Given the description of an element on the screen output the (x, y) to click on. 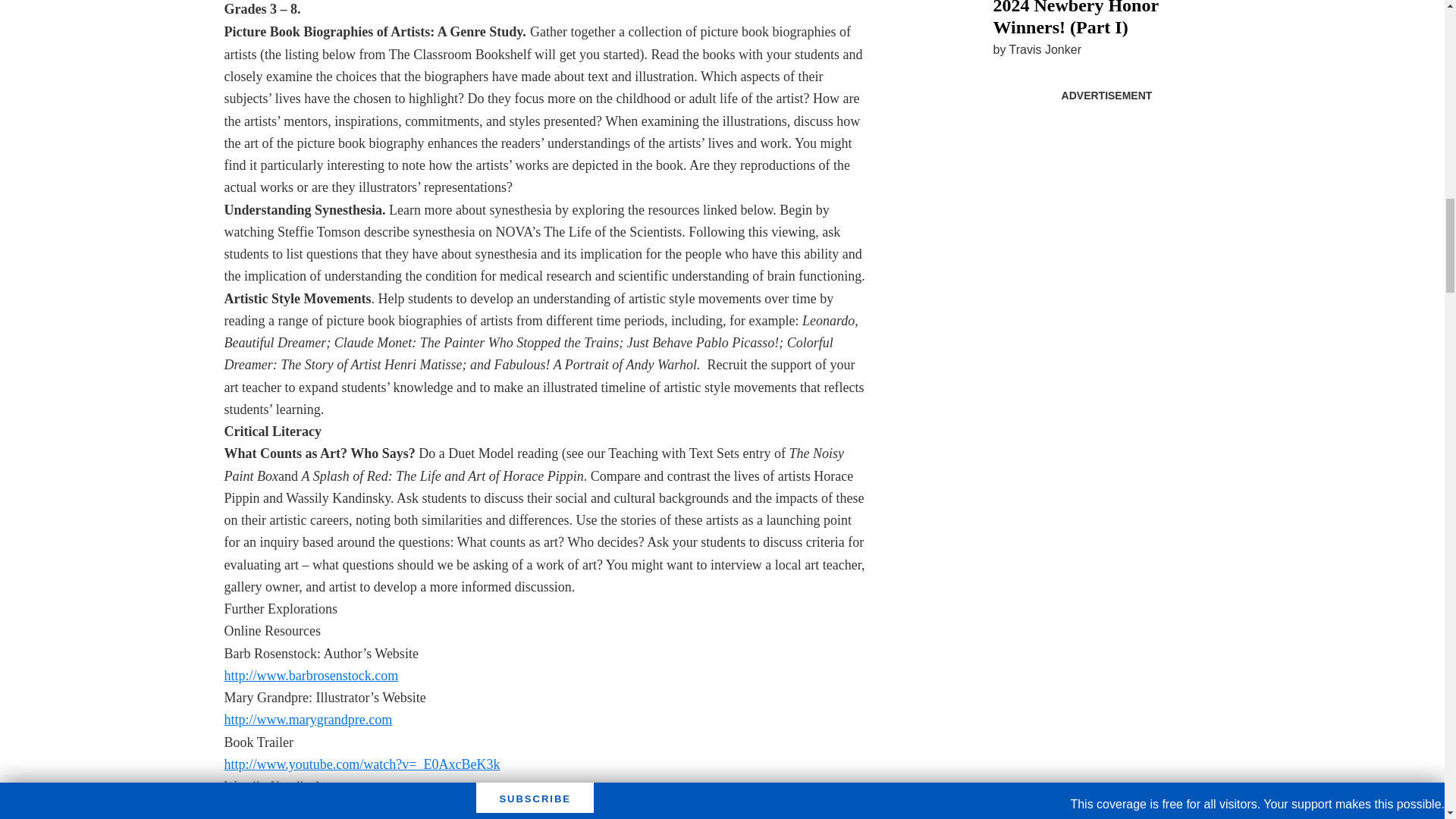
3rd party ad content (1106, 204)
